Given the description of an element on the screen output the (x, y) to click on. 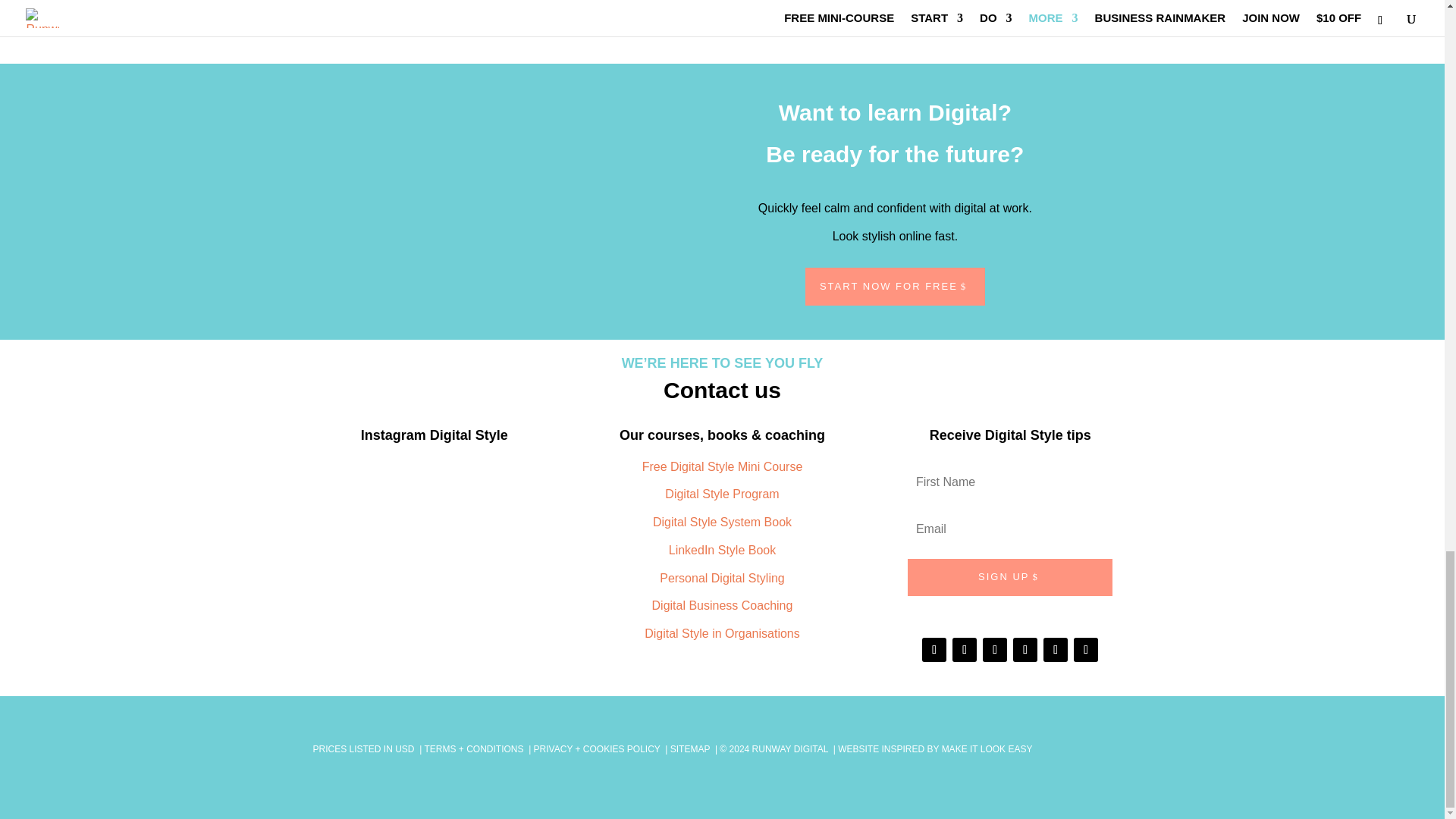
Follow on LinkedIn (504, 18)
Follow on Twitter (534, 18)
Follow on Pinterest (564, 18)
Follow on Vimeo (595, 18)
